Given the description of an element on the screen output the (x, y) to click on. 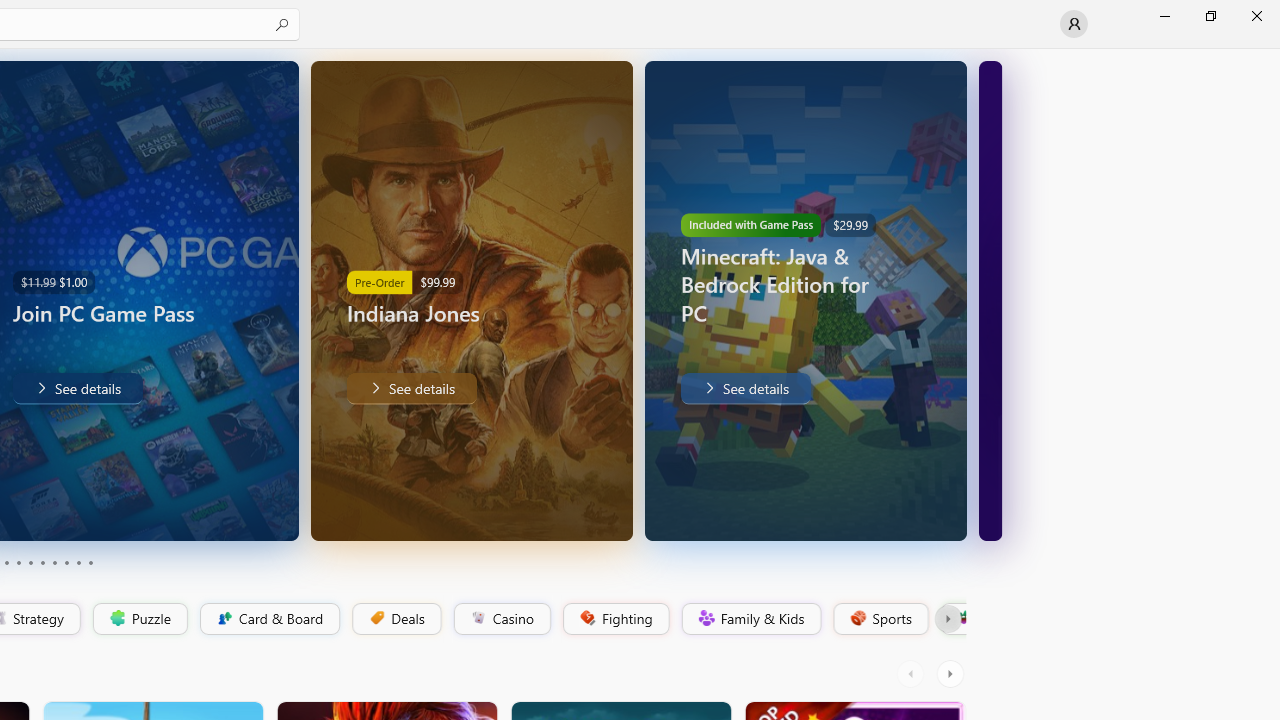
Card & Board (268, 619)
AutomationID: LeftScrollButton (913, 673)
User profile (1073, 24)
Fighting (614, 619)
Close Microsoft Store (1256, 15)
Class: Image (961, 617)
Casino (501, 619)
Puzzle (139, 619)
Deals (395, 619)
Page 3 (5, 562)
Page 10 (90, 562)
Page 9 (77, 562)
Page 7 (54, 562)
Page 4 (17, 562)
Page 6 (41, 562)
